Given the description of an element on the screen output the (x, y) to click on. 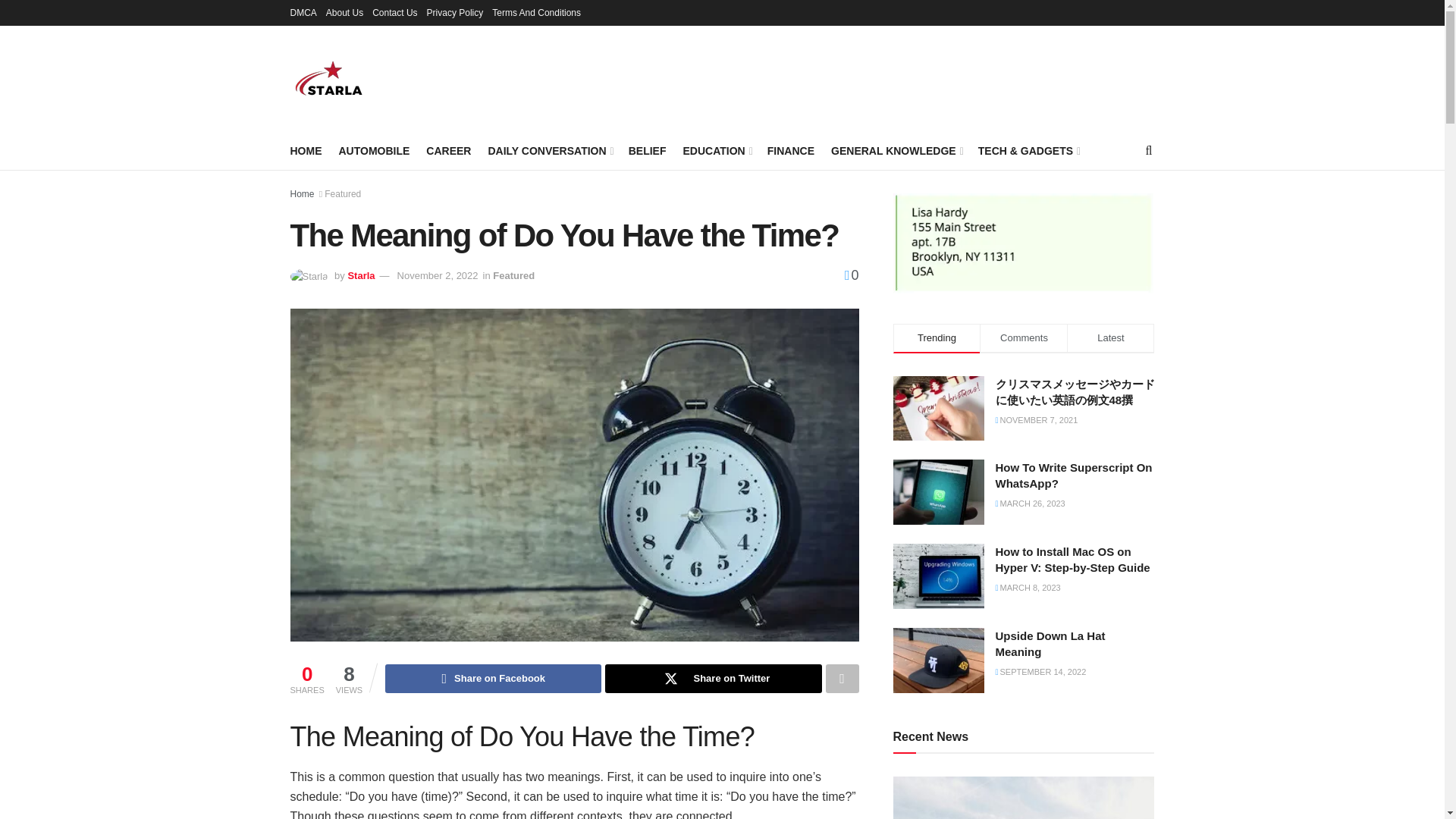
FINANCE (790, 150)
Contact Us (394, 12)
DAILY CONVERSATION (549, 150)
HOME (305, 150)
EDUCATION (715, 150)
CAREER (448, 150)
Privacy Policy (454, 12)
About Us (344, 12)
Terms And Conditions (536, 12)
AUTOMOBILE (373, 150)
